Given the description of an element on the screen output the (x, y) to click on. 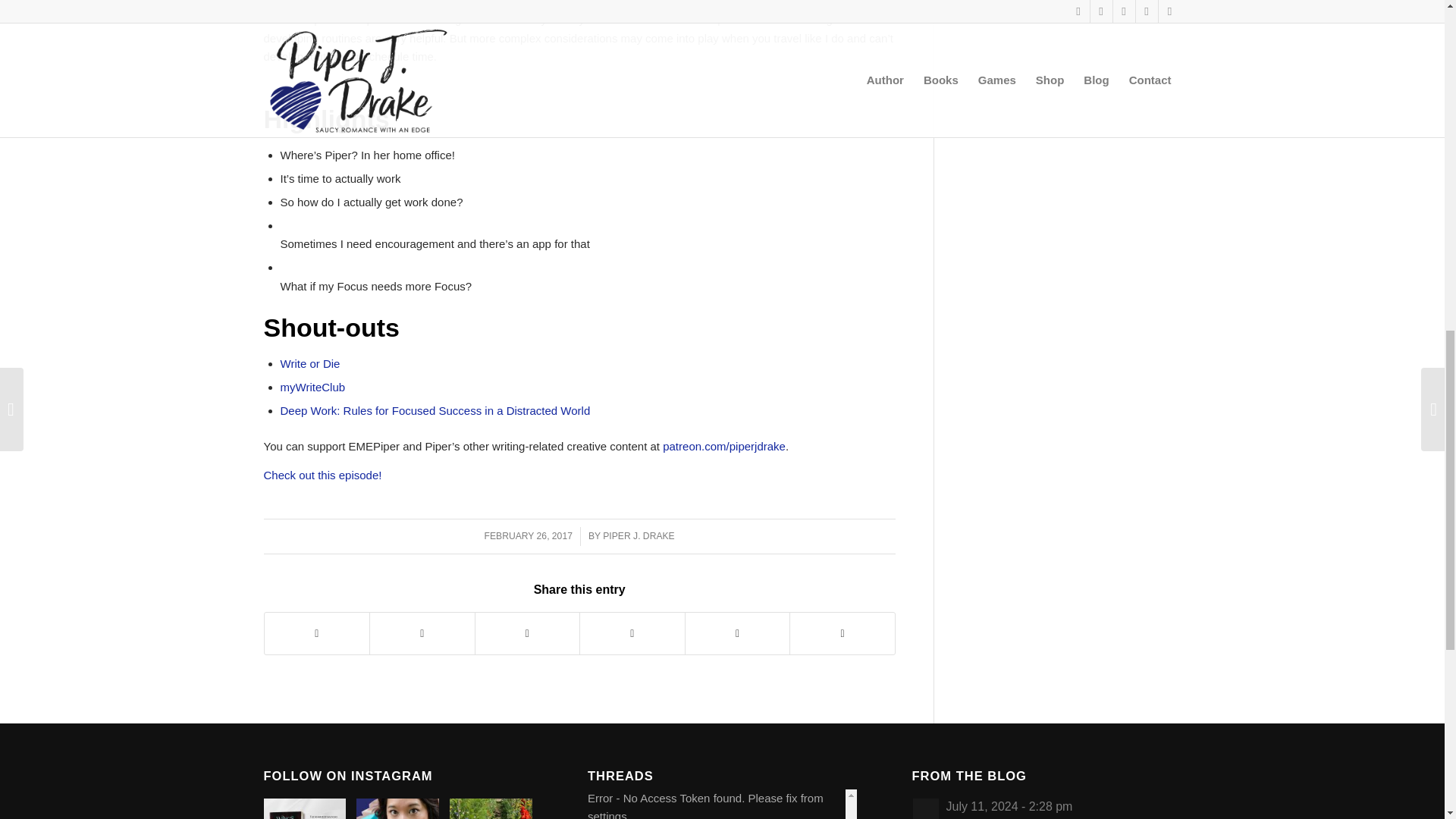
myWriteClub (313, 386)
Deep Work: Rules for Focused Success in a Distracted World (436, 410)
Write or Die (310, 363)
Check out this episode! (322, 474)
PIPER J. DRAKE (638, 535)
Posts by Piper J. Drake (638, 535)
